Given the description of an element on the screen output the (x, y) to click on. 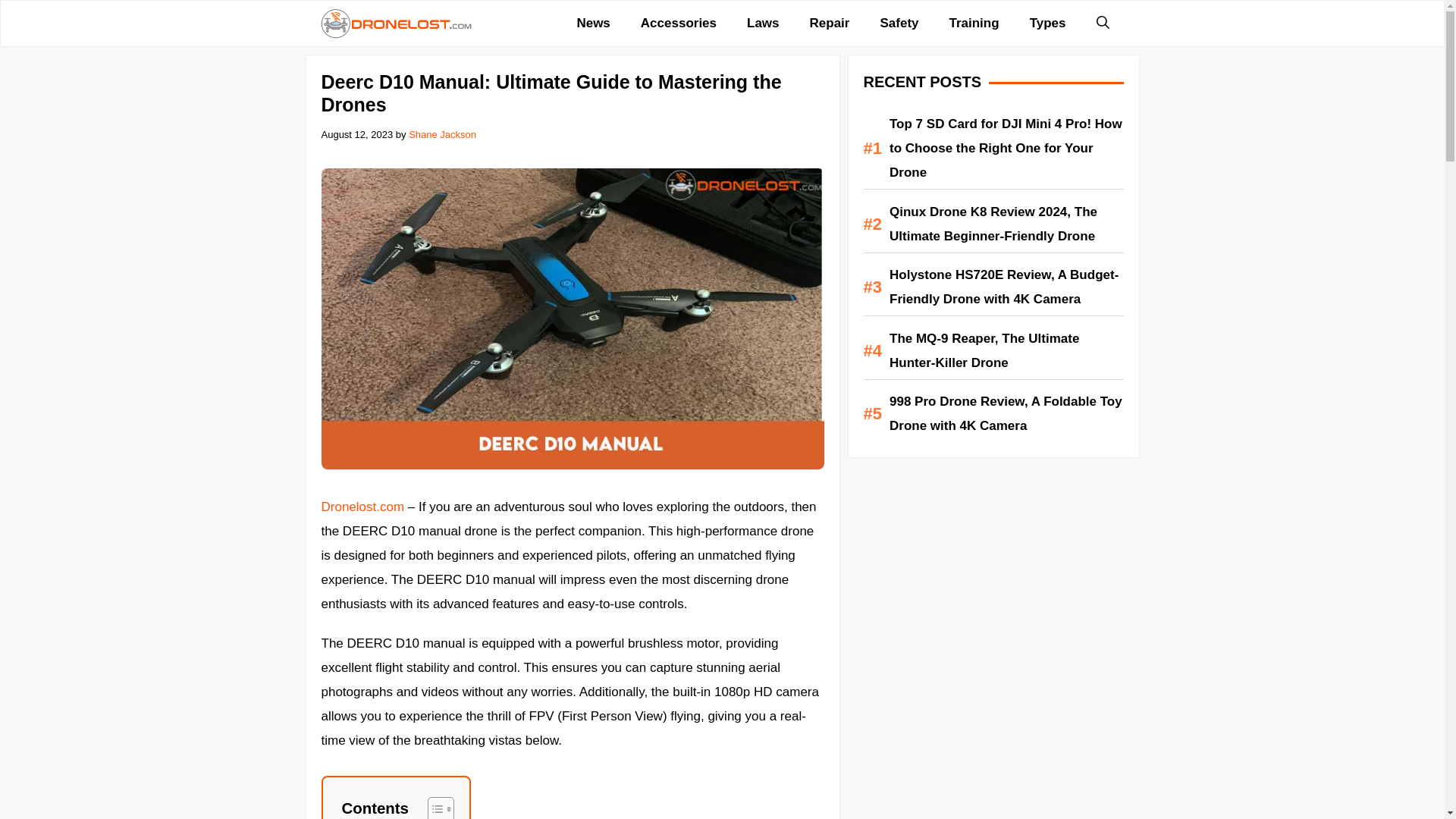
News (592, 22)
Laws (763, 22)
View all posts by Shane Jackson (442, 134)
Shane Jackson (442, 134)
Dronelost.com (362, 506)
Dronelost.com (395, 22)
Types (1047, 22)
Training (974, 22)
Repair (829, 22)
Safety (898, 22)
Accessories (679, 22)
